Given the description of an element on the screen output the (x, y) to click on. 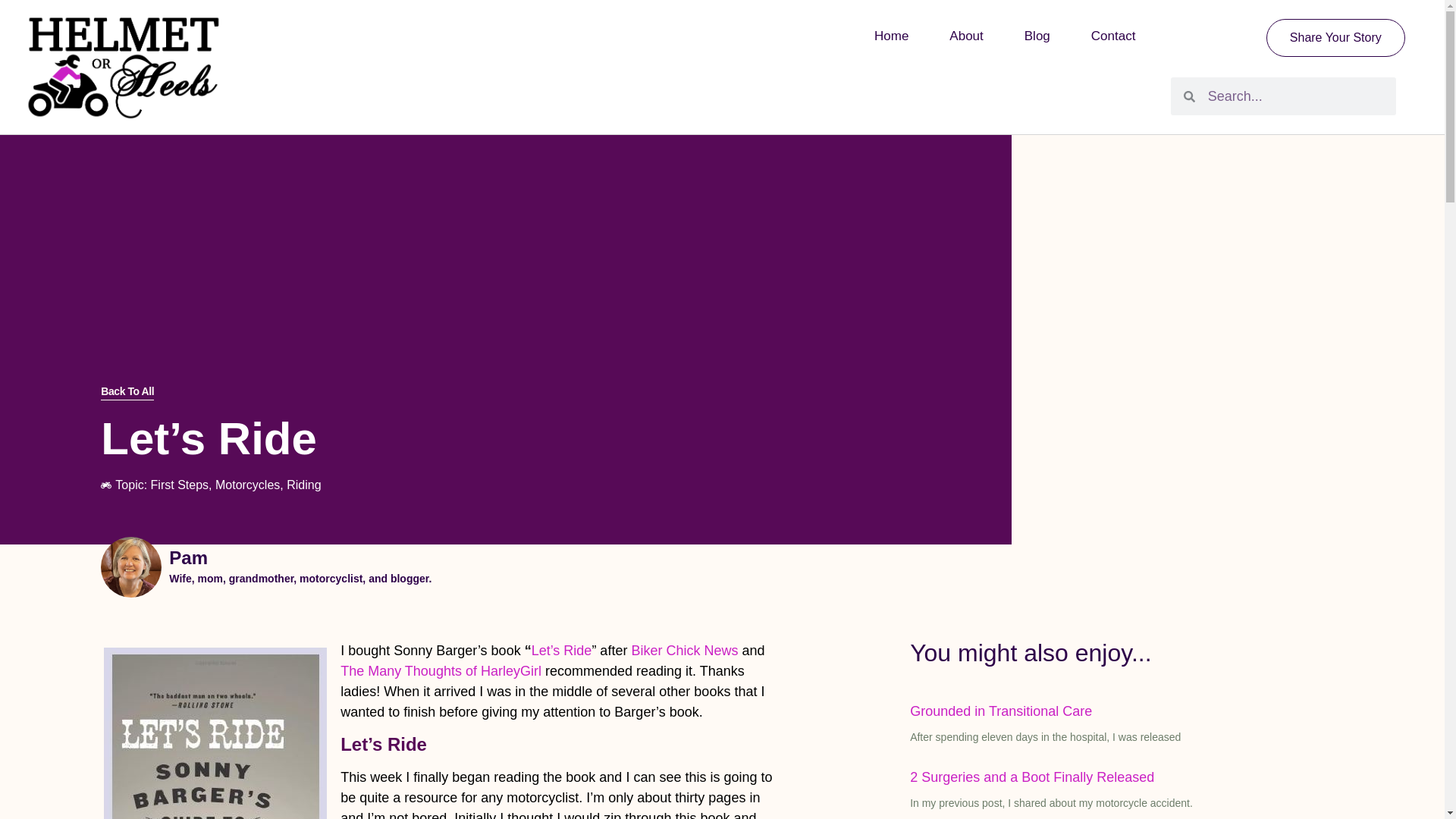
Back To All (127, 392)
Motorcycles (247, 484)
Contact (1113, 36)
Biker Chick News (685, 650)
Riding (303, 484)
Let's Ride Sonny Barger book (214, 733)
The Many Thoughts of HarleyGirl (440, 670)
Home (890, 36)
First Steps (179, 484)
About (965, 36)
